Given the description of an element on the screen output the (x, y) to click on. 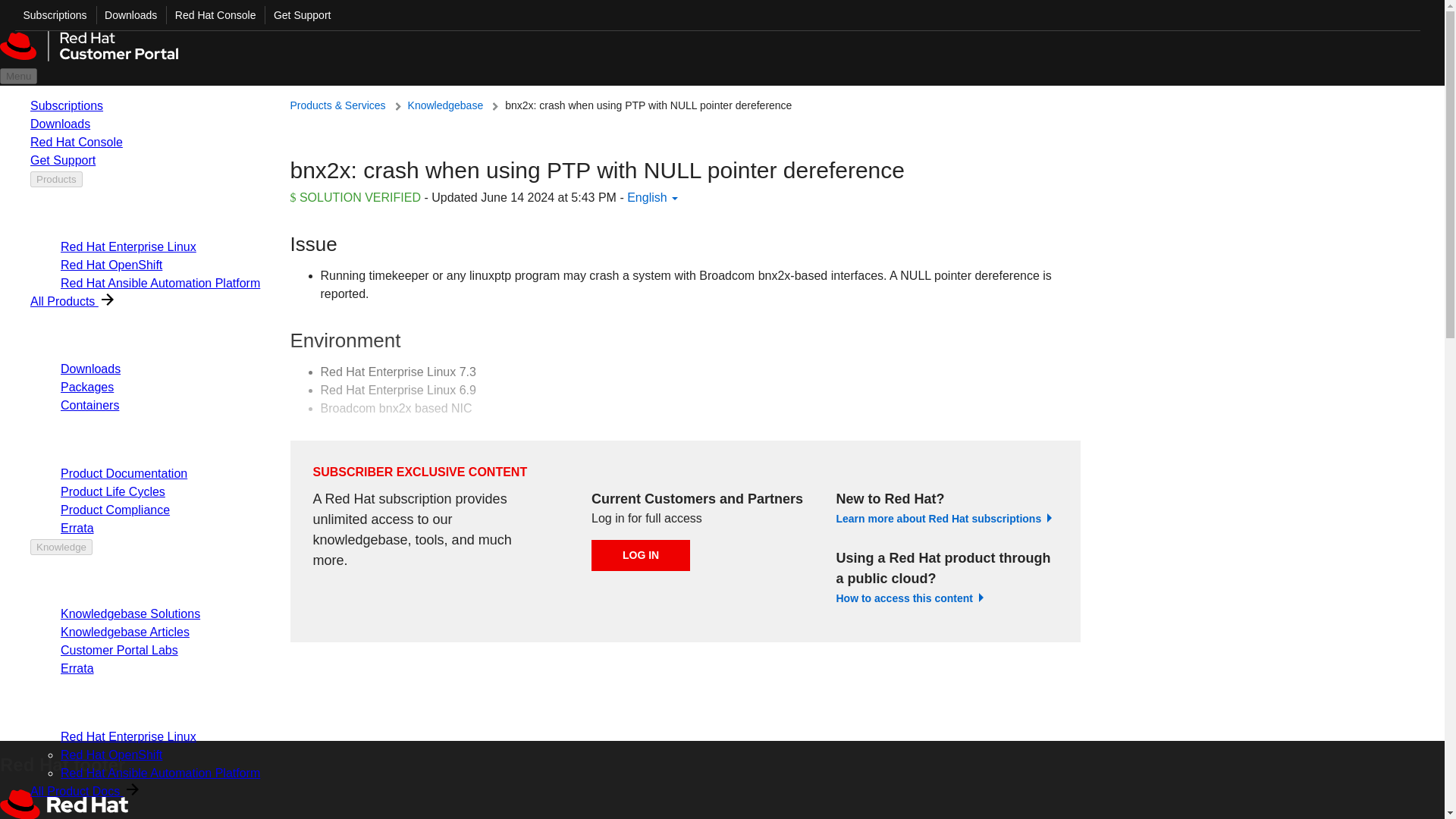
Downloads (126, 14)
Red Hat Console (210, 14)
Jun5 14 2024 pmt 5:43 P6 (547, 196)
Subscriptions (50, 14)
Get Support (297, 14)
